Given the description of an element on the screen output the (x, y) to click on. 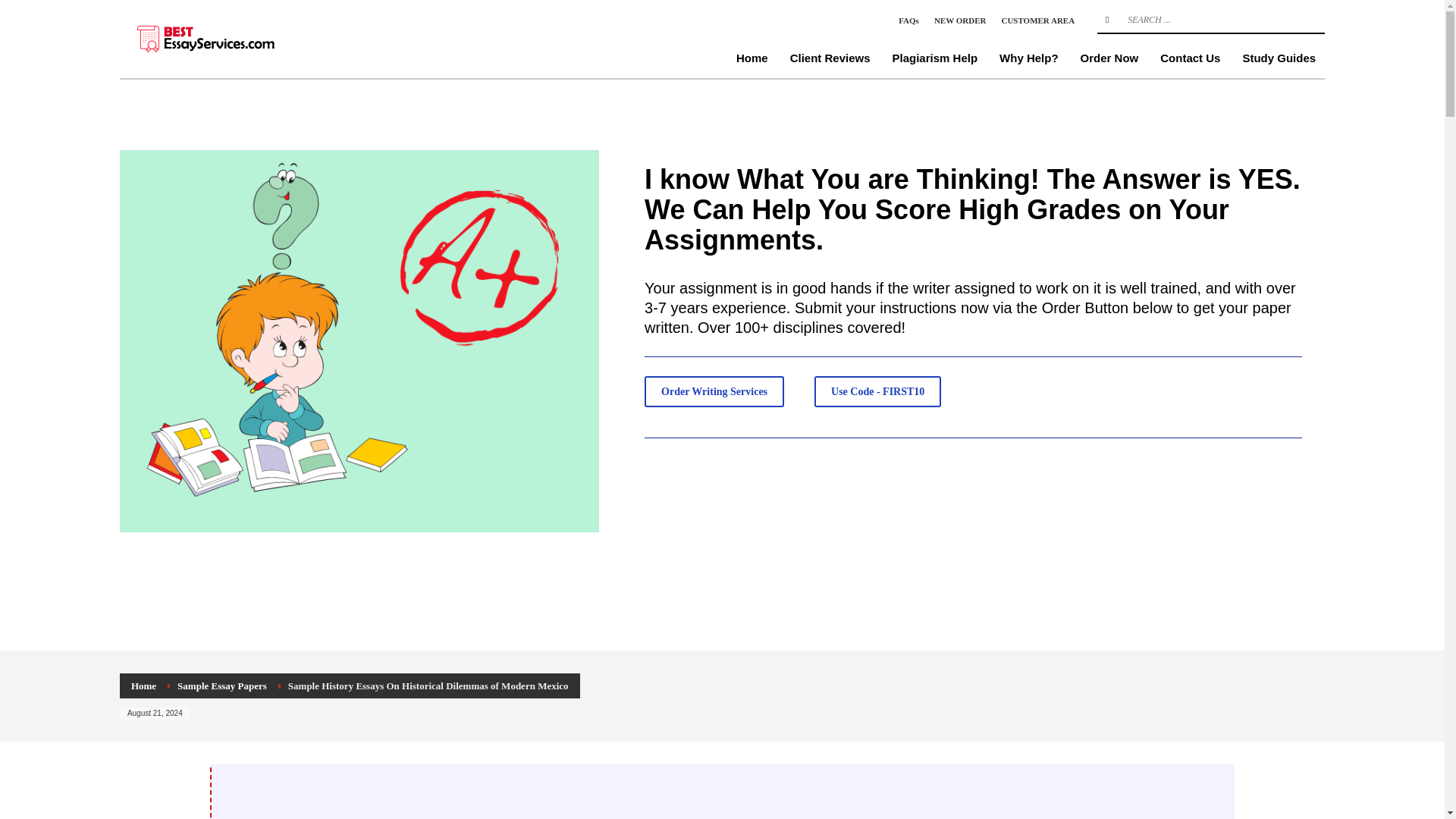
Order Writing Services (714, 391)
Why Help? (1028, 57)
Order Now (1109, 57)
NEW ORDER (960, 20)
Home (143, 685)
Use Code - FIRST10 (876, 391)
Study Guides (1278, 57)
Home (751, 57)
